Given the description of an element on the screen output the (x, y) to click on. 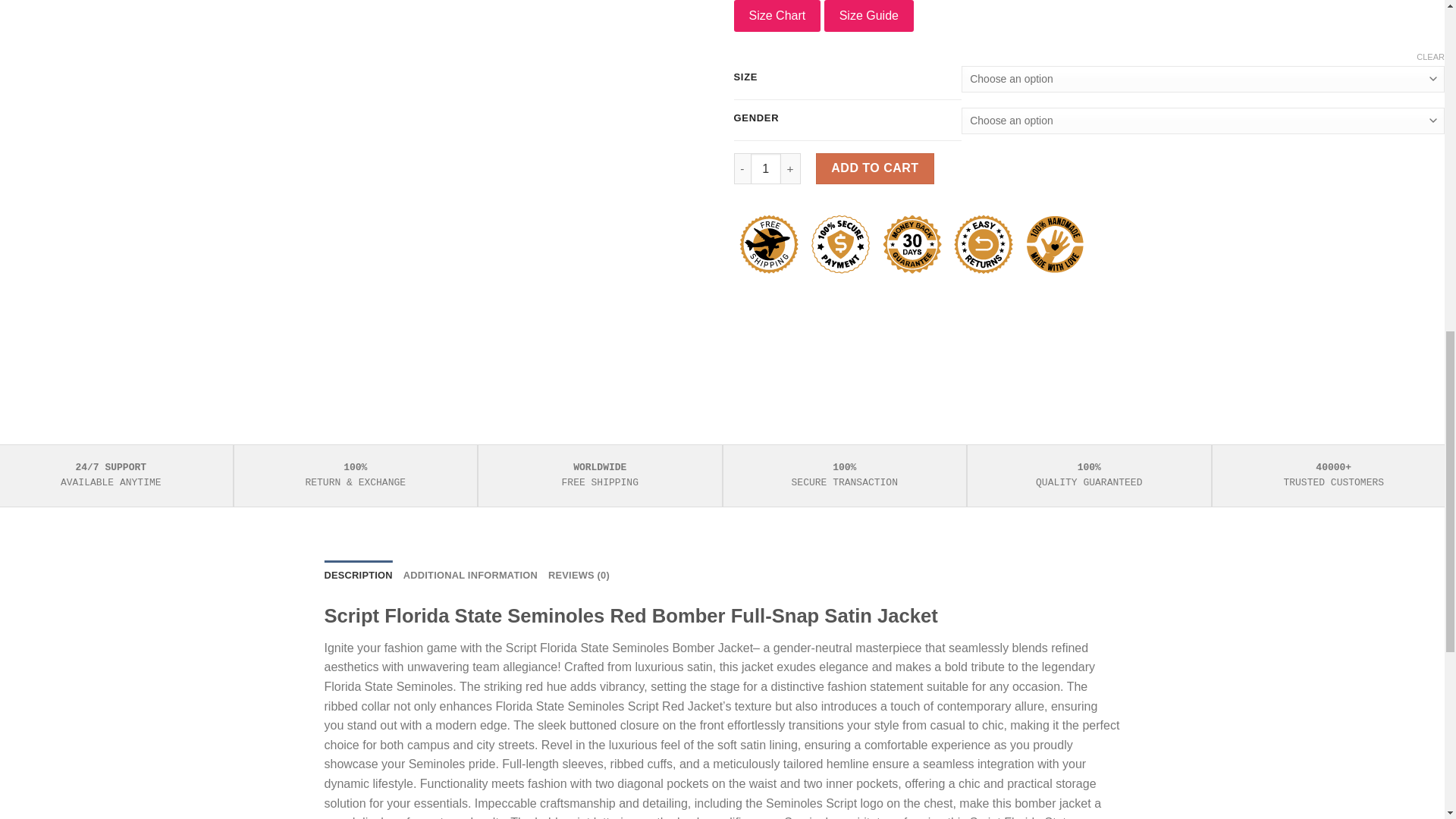
1 (765, 168)
